Given the description of an element on the screen output the (x, y) to click on. 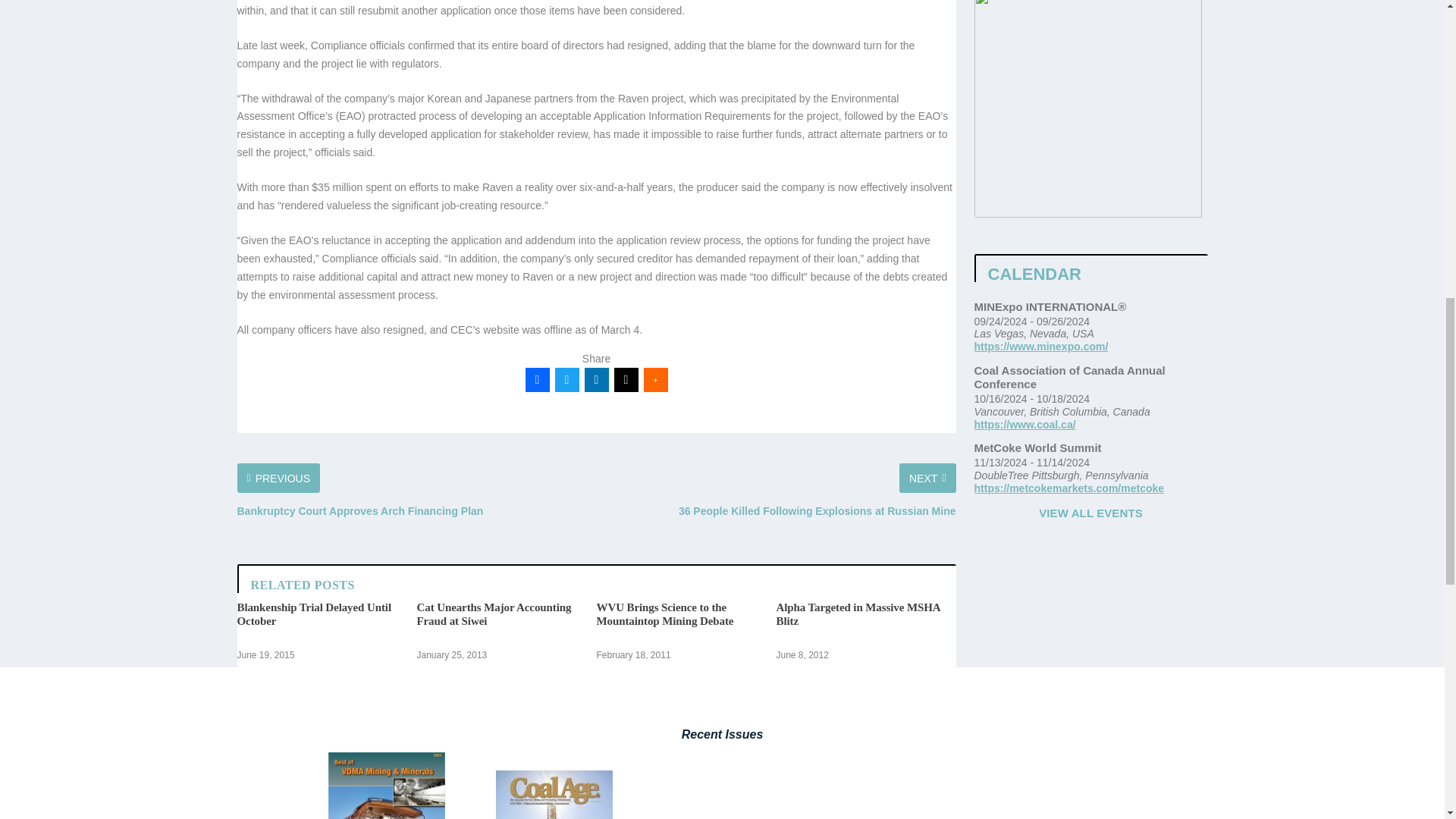
Alpha Targeted in Massive MSHA Blitz (858, 614)
Cat Unearths Major Accounting Fraud at Siwei (494, 614)
Tweet this ! (566, 379)
Add this to LinkedIn (595, 379)
Blankenship Trial Delayed Until October (312, 614)
WVU Brings Science to the Mountaintop Mining Debate (664, 614)
Email this  (626, 379)
More share links (654, 379)
Share this on Facebook (536, 379)
